Given the description of an element on the screen output the (x, y) to click on. 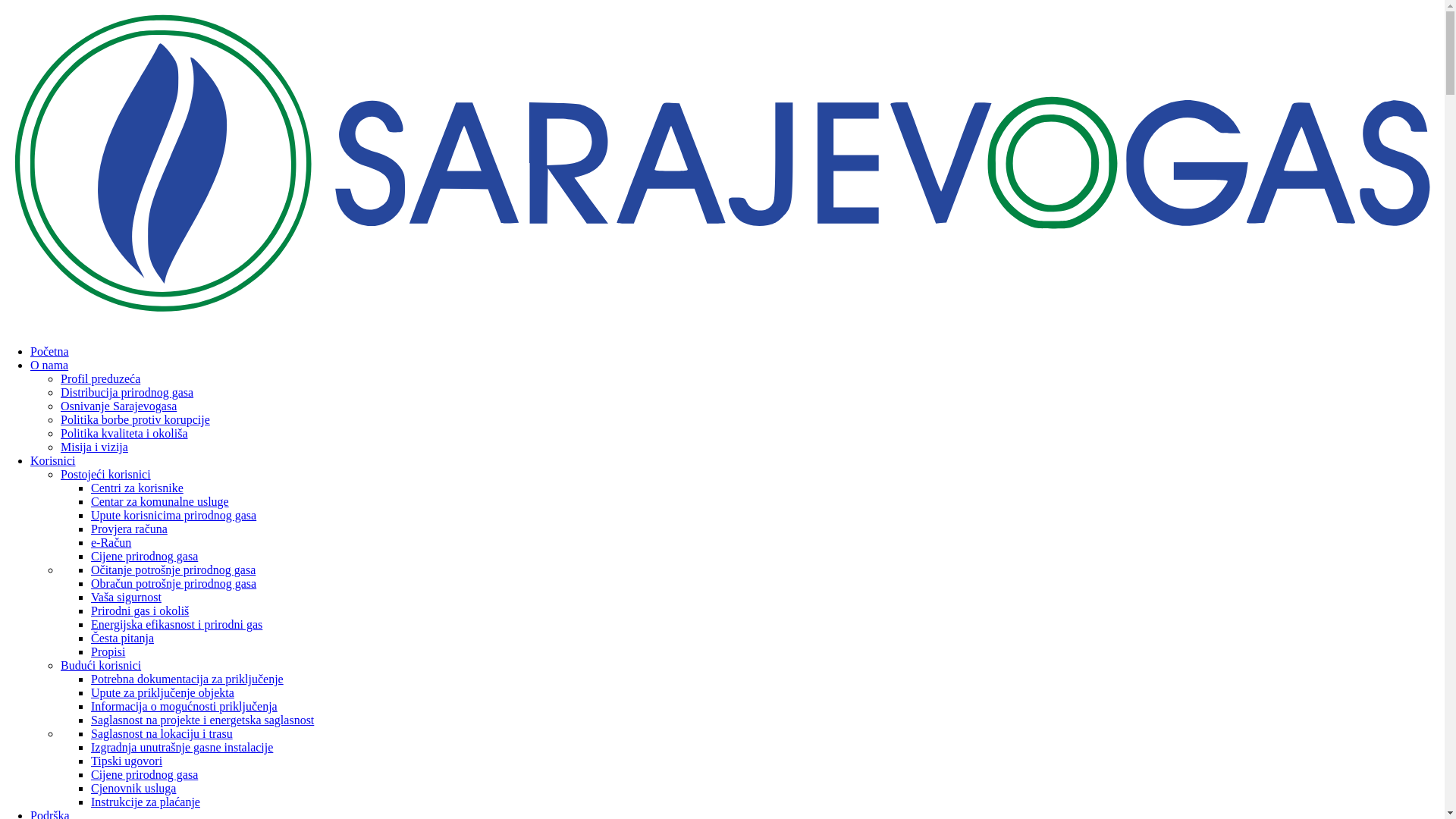
Energijska efikasnost i prirodni gas Element type: text (176, 624)
Cijene prirodnog gasa Element type: text (144, 555)
Propisi Element type: text (108, 651)
O nama Element type: text (49, 364)
Centar za komunalne usluge Element type: text (160, 501)
Centri za korisnike Element type: text (137, 487)
Cjenovnik usluga Element type: text (133, 787)
Politika borbe protiv korupcije Element type: text (135, 419)
Saglasnost na lokaciju i trasu Element type: text (161, 733)
Korisnici Element type: text (52, 460)
Distribucija prirodnog gasa Element type: text (126, 391)
Saglasnost na projekte i energetska saglasnost Element type: text (202, 719)
Osnivanje Sarajevogasa Element type: text (118, 405)
Misija i vizija Element type: text (94, 446)
Upute korisnicima prirodnog gasa Element type: text (173, 514)
Tipski ugovori Element type: text (126, 760)
Cijene prirodnog gasa Element type: text (144, 774)
